Given the description of an element on the screen output the (x, y) to click on. 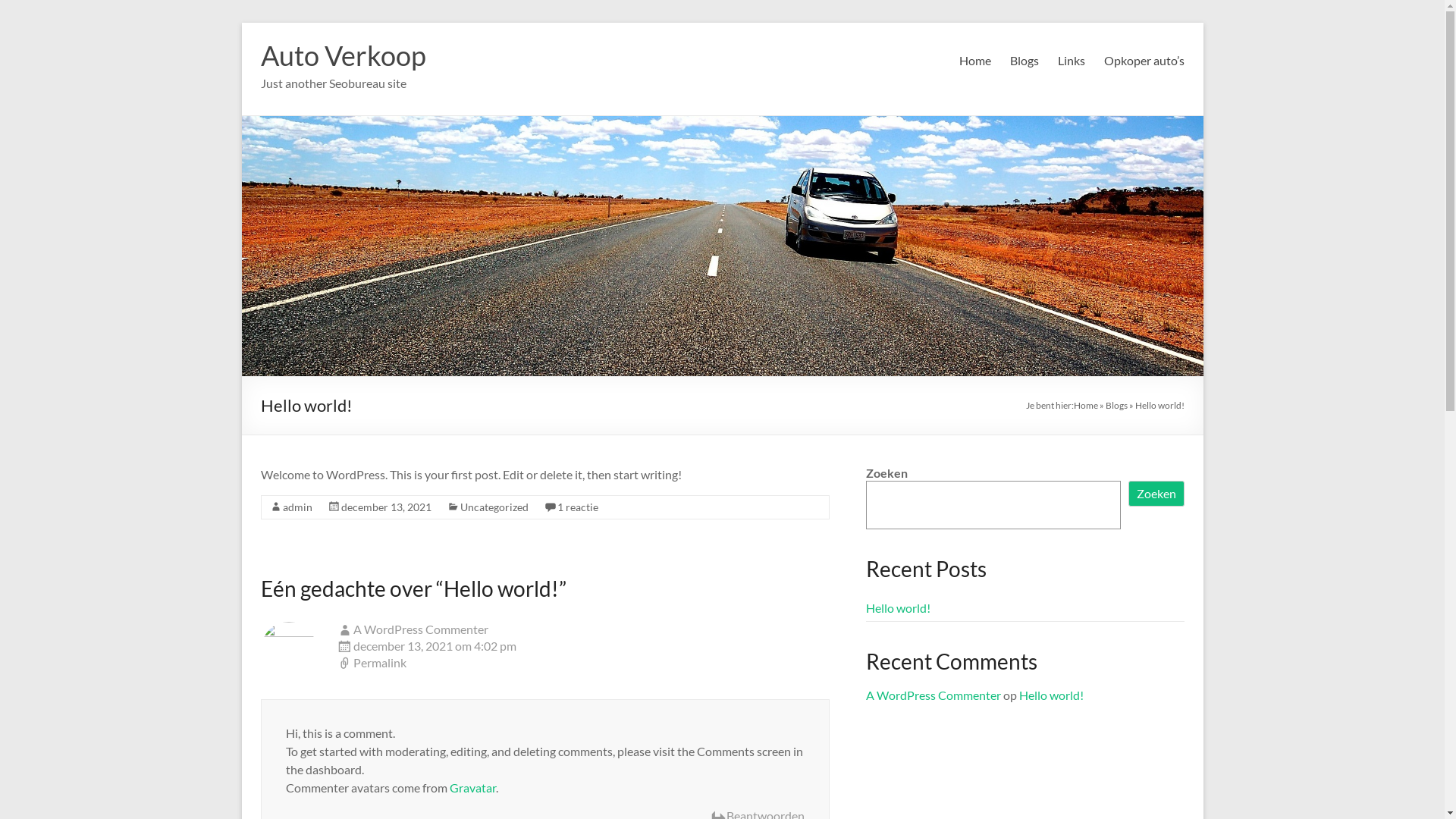
Blogs Element type: text (1116, 405)
Gravatar Element type: text (471, 787)
Permalink Element type: text (582, 663)
Zoeken Element type: text (1156, 493)
Hello world! Element type: text (1051, 694)
Links Element type: text (1070, 60)
december 13, 2021 Element type: text (386, 506)
Hello world! Element type: text (898, 607)
Blogs Element type: text (1024, 60)
Uncategorized Element type: text (493, 506)
A WordPress Commenter Element type: text (933, 694)
Auto Verkoop Element type: text (343, 55)
admin Element type: text (296, 506)
Home Element type: text (1085, 405)
1 reactie Element type: text (576, 506)
A WordPress Commenter Element type: text (420, 628)
Home Element type: text (974, 60)
Ga naar inhoud Element type: text (241, 21)
